Given the description of an element on the screen output the (x, y) to click on. 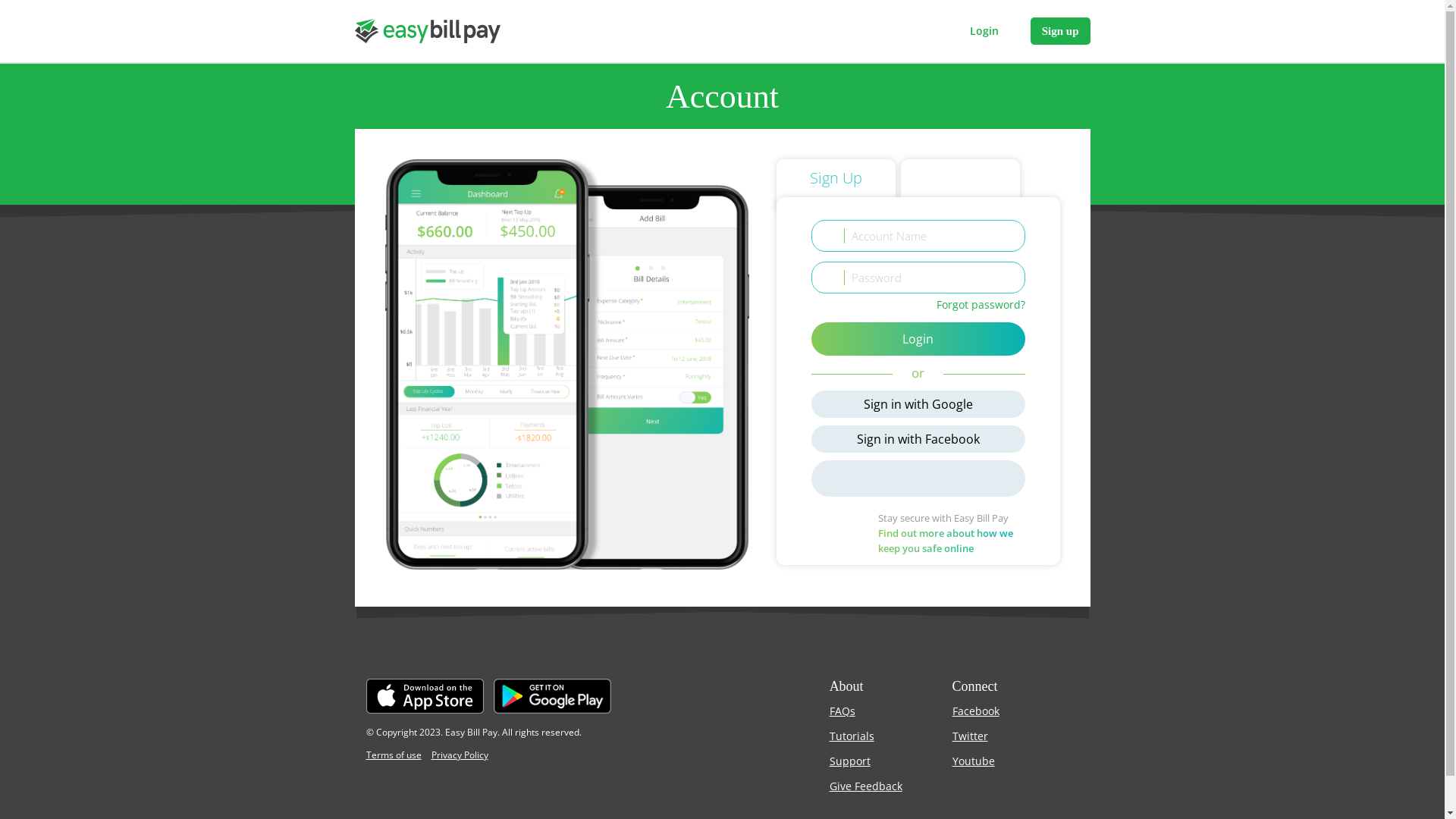
Youtube Element type: text (973, 760)
Terms of use Element type: text (392, 754)
Give Feedback Element type: text (865, 785)
Twitter Element type: text (970, 735)
Find out more about how we keep you safe online Element type: text (945, 540)
Forgot password? Element type: text (980, 304)
Support Element type: text (849, 760)
FAQs Element type: text (842, 710)
Sign Up Element type: text (835, 186)
You will be redirected to Apple's login page Element type: hover (918, 478)
Privacy Policy Element type: text (458, 754)
Facebook Element type: text (975, 710)
Apple Element type: text (918, 478)
Sign up Element type: text (1060, 30)
Login Element type: text (983, 30)
Login Element type: text (918, 338)
Sign in with Google Element type: text (918, 403)
Sign in with Facebook Element type: text (918, 438)
Tutorials Element type: text (851, 735)
